Given the description of an element on the screen output the (x, y) to click on. 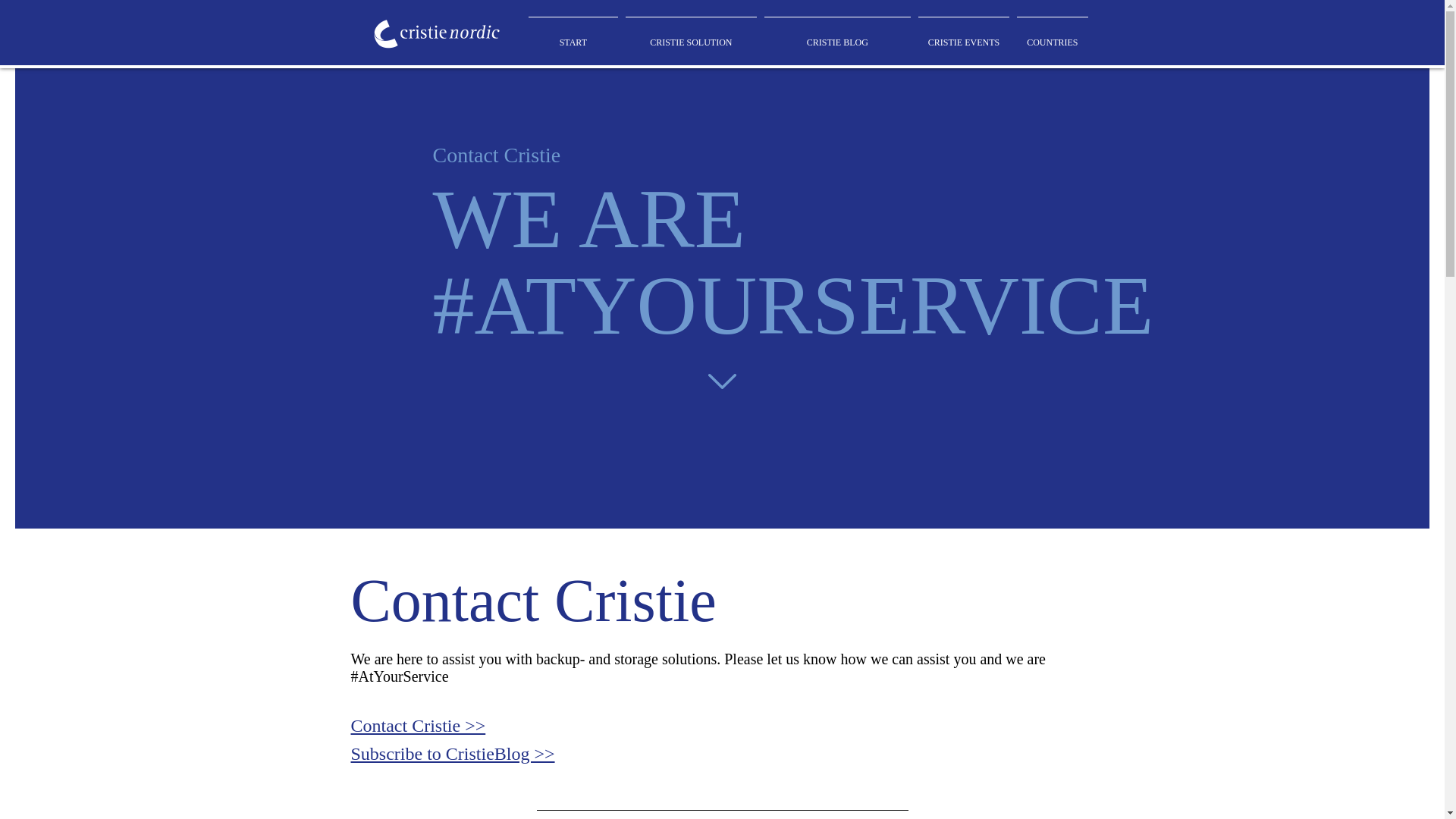
CRISTIE SOLUTION (691, 38)
START (572, 38)
COUNTRIES (1051, 38)
CRISTIE BLOG (837, 38)
CRISTIE EVENTS (963, 38)
